Given the description of an element on the screen output the (x, y) to click on. 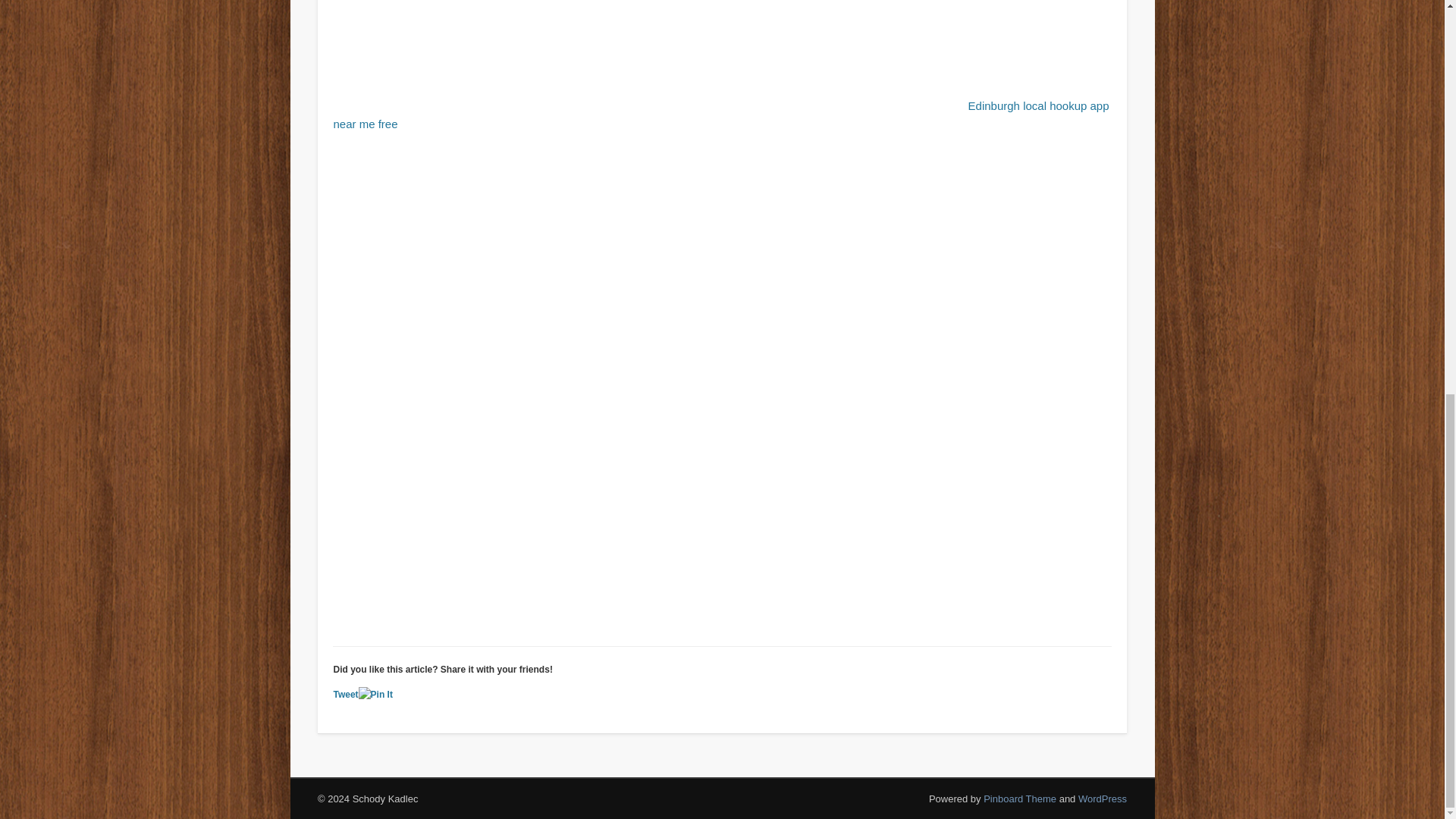
WordPress (1102, 798)
Pin It (375, 694)
Pinboard Theme (1020, 798)
Tweet (345, 694)
Pinboard Theme (1020, 798)
Edinburgh local hookup app near me free (720, 114)
WordPress (1102, 798)
